Given the description of an element on the screen output the (x, y) to click on. 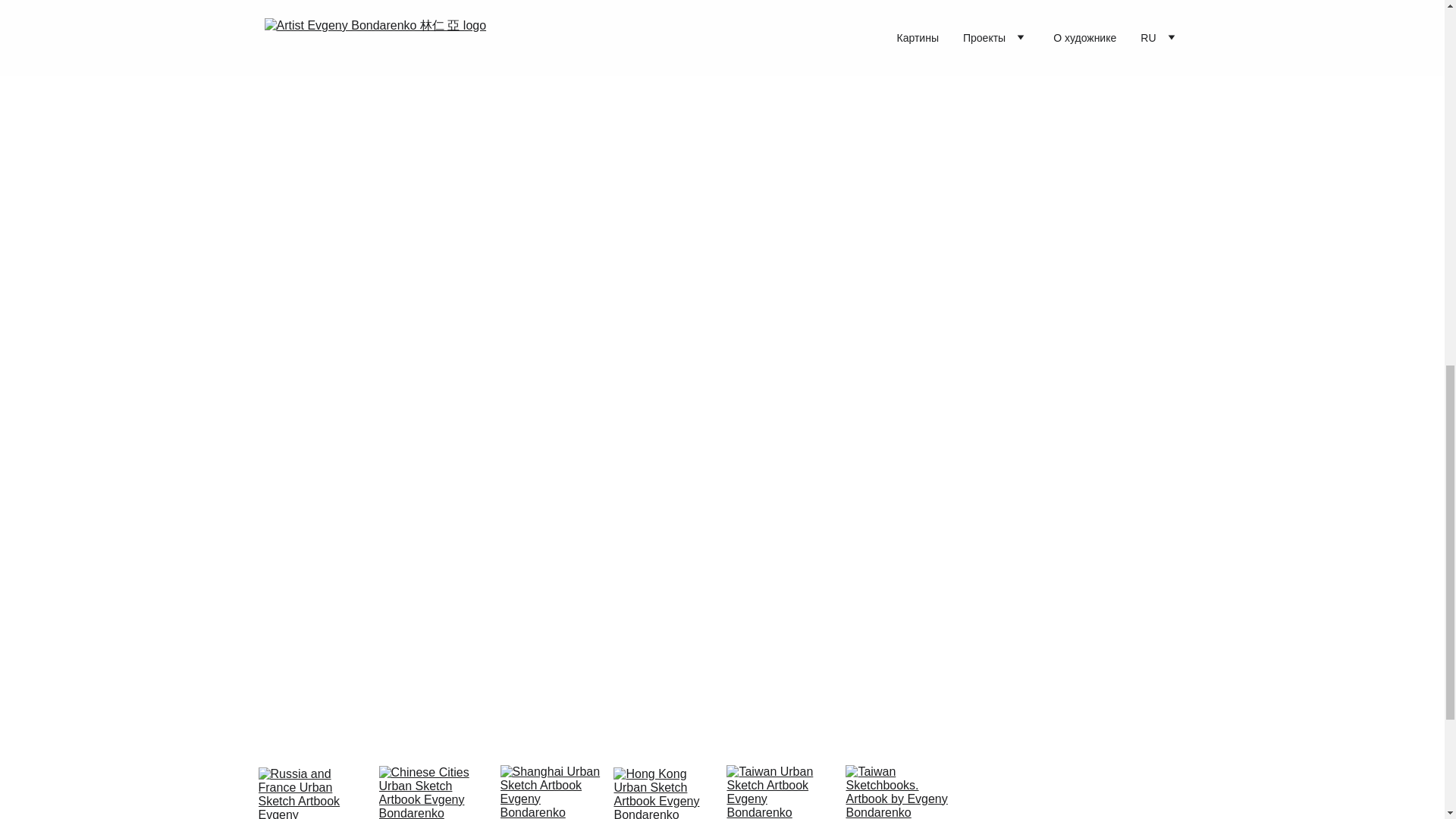
Taiwan Sketchbooks. Artbook by Evgeny Bondarenko (898, 791)
Taiwan Urban Sketch Artbook Evgeny Bondarenko (777, 791)
Shanghai Urban Sketch Artbook Evgeny Bondarenko (551, 791)
Russia and France Urban Sketch Artbook Evgeny Bondarenko (309, 793)
Chinese Cities Urban Sketch Artbook Evgeny Bondarenko (430, 792)
Hong Kong Urban Sketch Artbook Evgeny Bondarenko (664, 793)
